Given the description of an element on the screen output the (x, y) to click on. 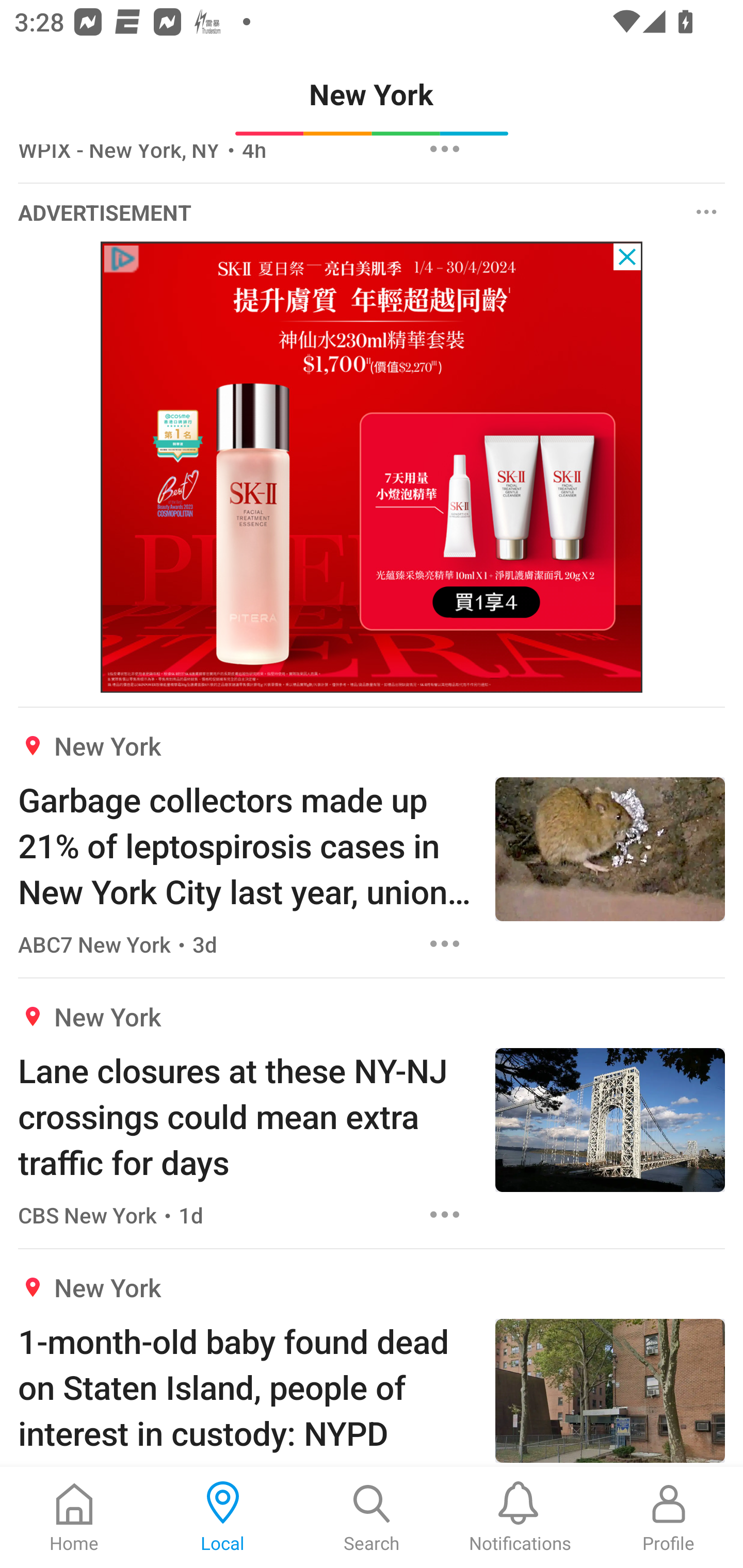
Options (706, 212)
uKPgbpDD9 ZVFIspO8d (371, 467)
Options (444, 943)
Options (444, 1214)
Home (74, 1517)
Search (371, 1517)
Notifications (519, 1517)
Profile (668, 1517)
